Given the description of an element on the screen output the (x, y) to click on. 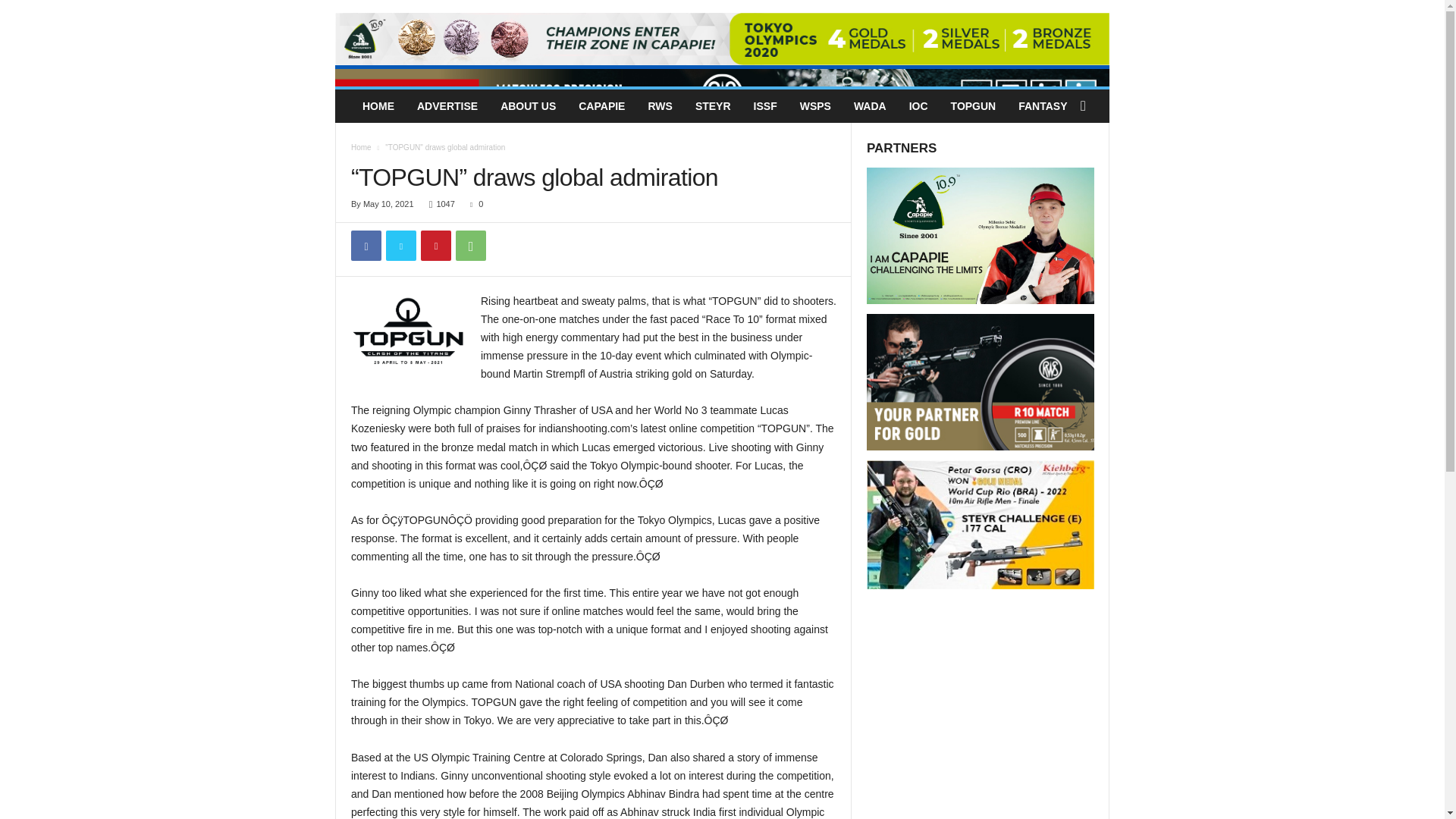
IOC (918, 105)
FANTASY (1042, 105)
Twitter (400, 245)
ISSF (765, 105)
WhatsApp (470, 245)
WSPS (816, 105)
ABOUT US (528, 105)
WADA (870, 105)
ADVERTISE (447, 105)
TOPGUN (973, 105)
0 (473, 203)
RWS (659, 105)
CAPAPIE (601, 105)
HOME (378, 105)
STEYR (713, 105)
